Given the description of an element on the screen output the (x, y) to click on. 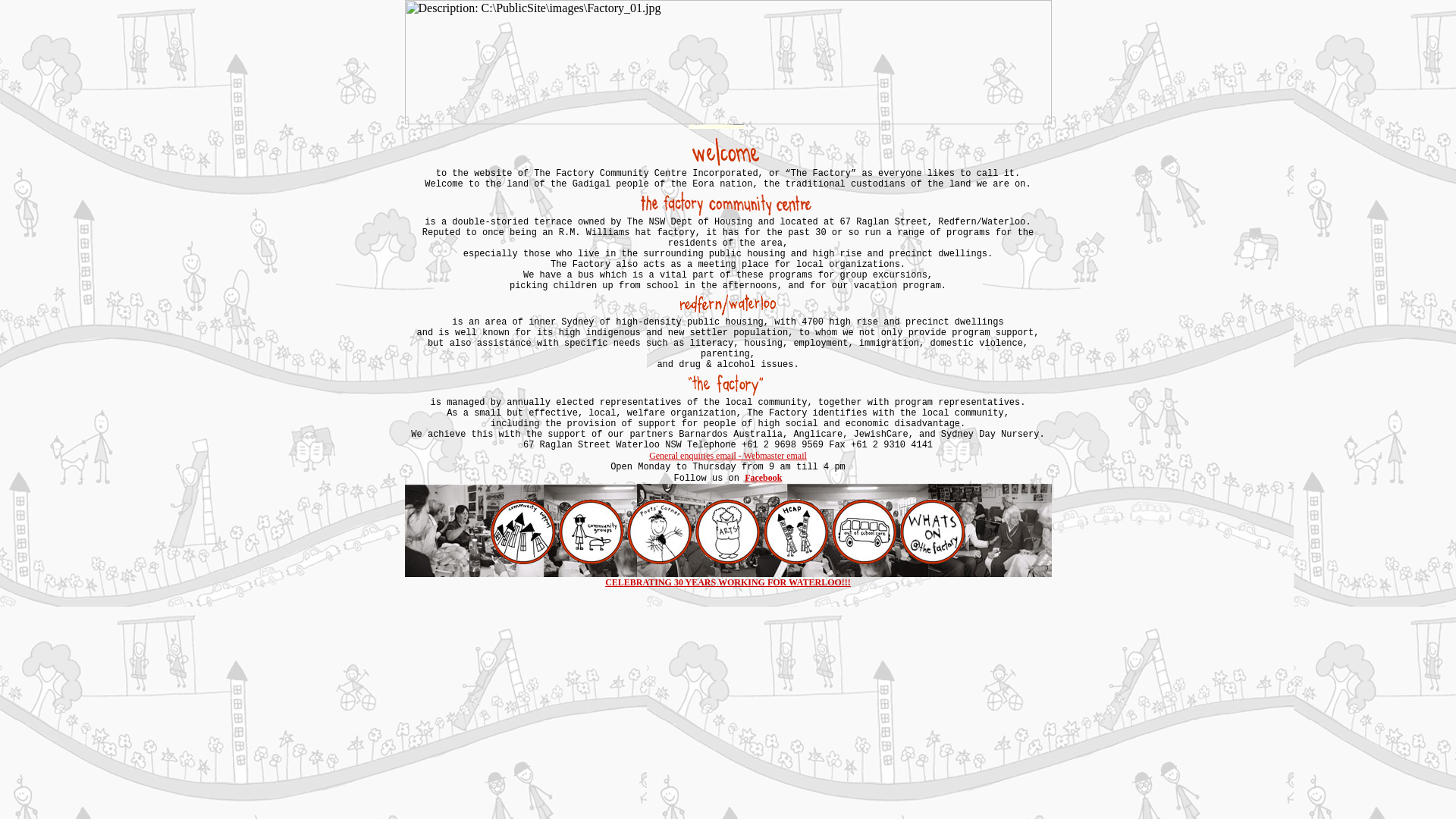
Facebook Element type: text (762, 477)
General enquiries email - Webmaster email Element type: text (727, 455)
CELEBRATING 30 YEARS WORKING FOR WATERLOO!!! Element type: text (727, 582)
